Given the description of an element on the screen output the (x, y) to click on. 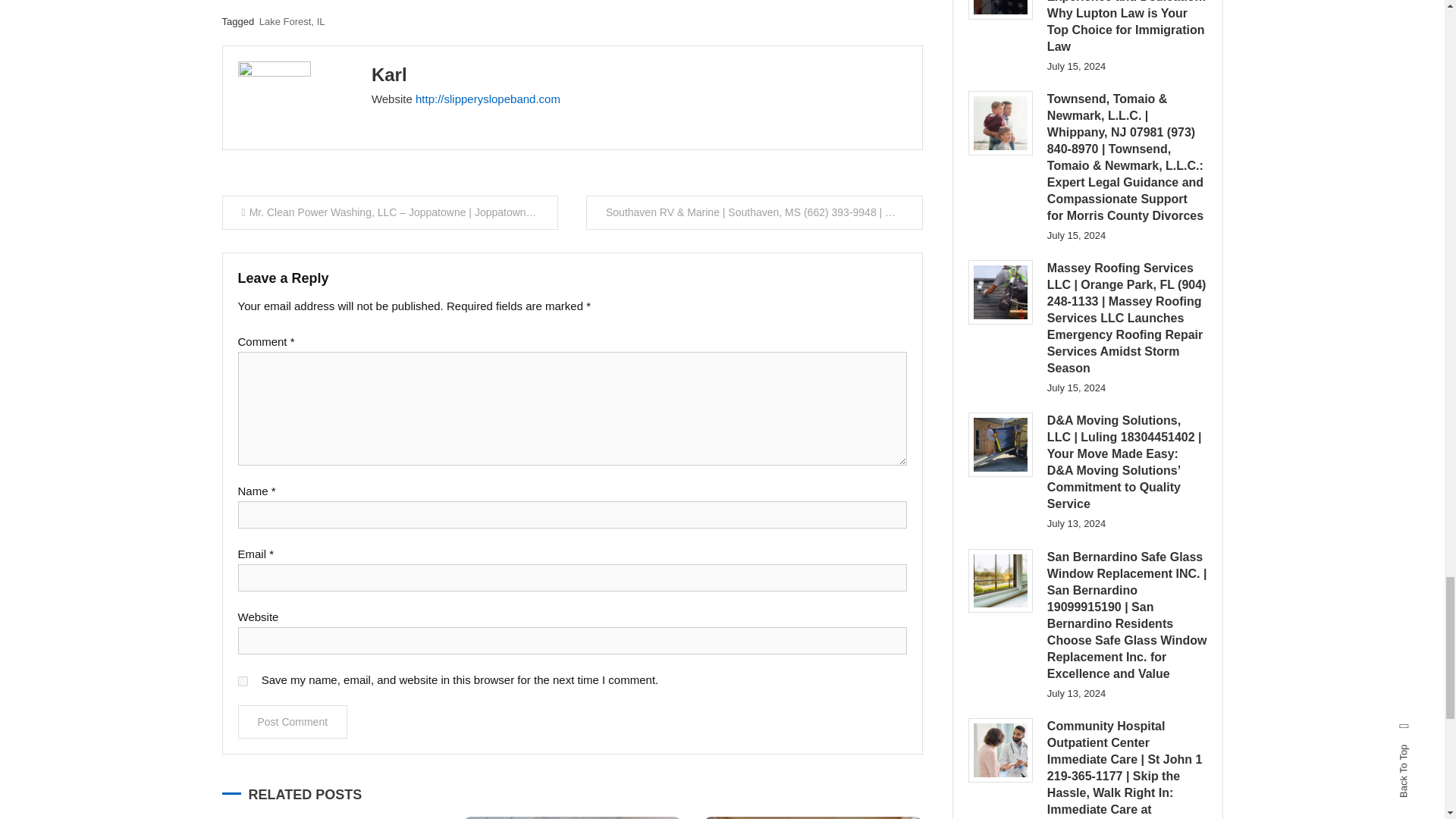
yes (242, 681)
Post Comment (292, 721)
Posts by Karl (389, 74)
